Given the description of an element on the screen output the (x, y) to click on. 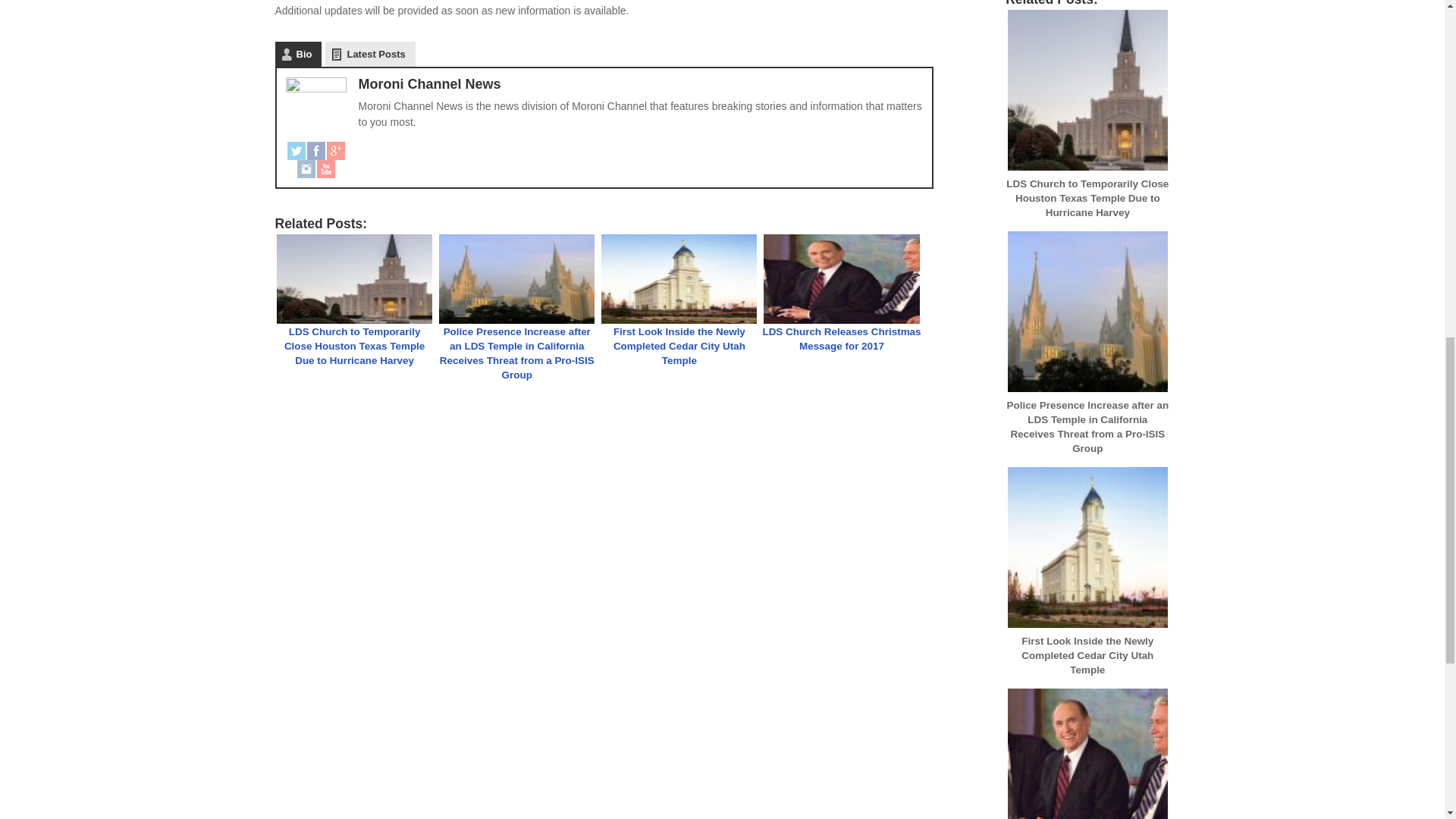
Twitter (295, 150)
Instagram (306, 168)
YouTube (325, 168)
Facebook (314, 150)
